Given the description of an element on the screen output the (x, y) to click on. 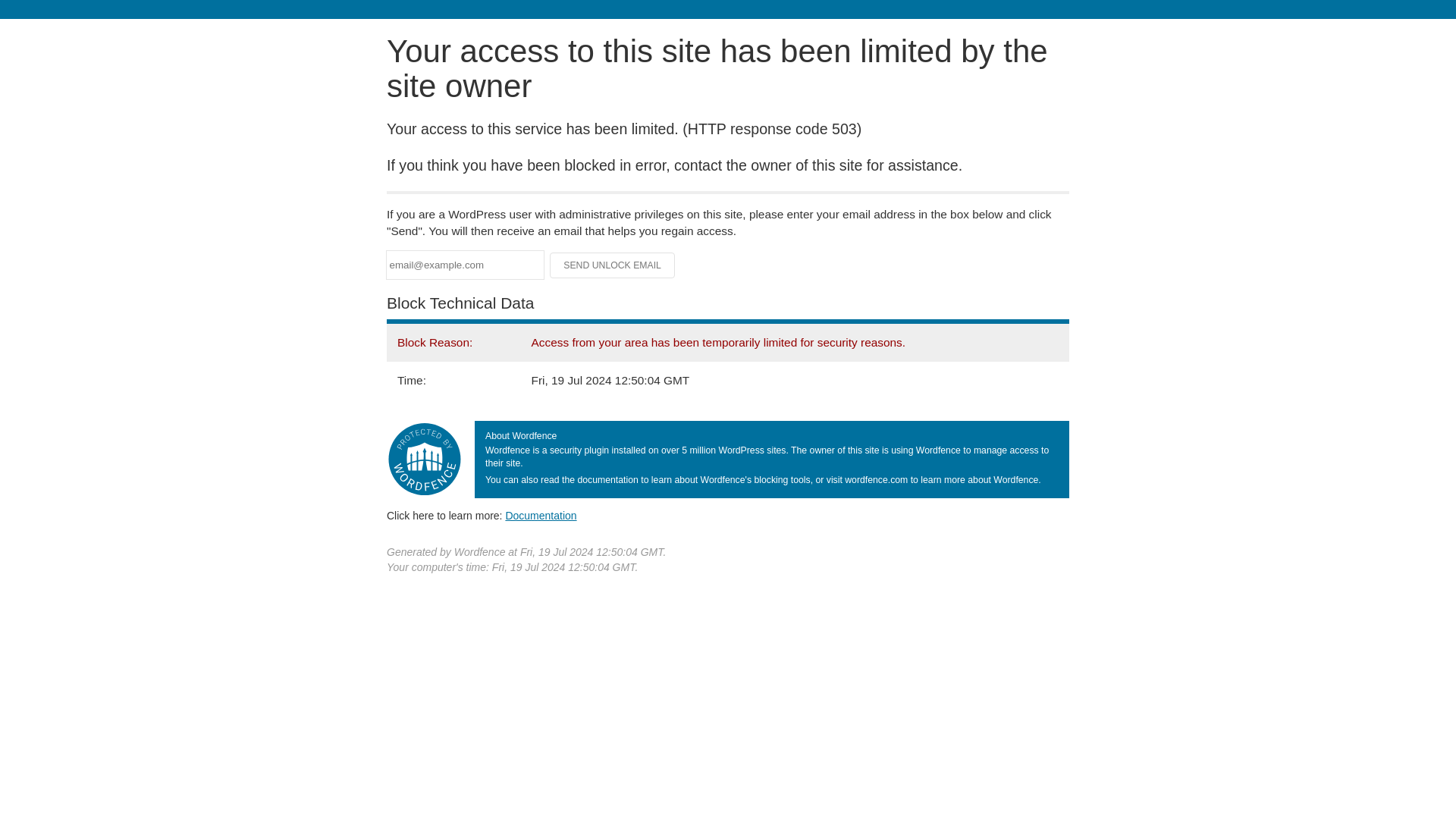
Documentation (540, 515)
Send Unlock Email (612, 265)
Send Unlock Email (612, 265)
